Given the description of an element on the screen output the (x, y) to click on. 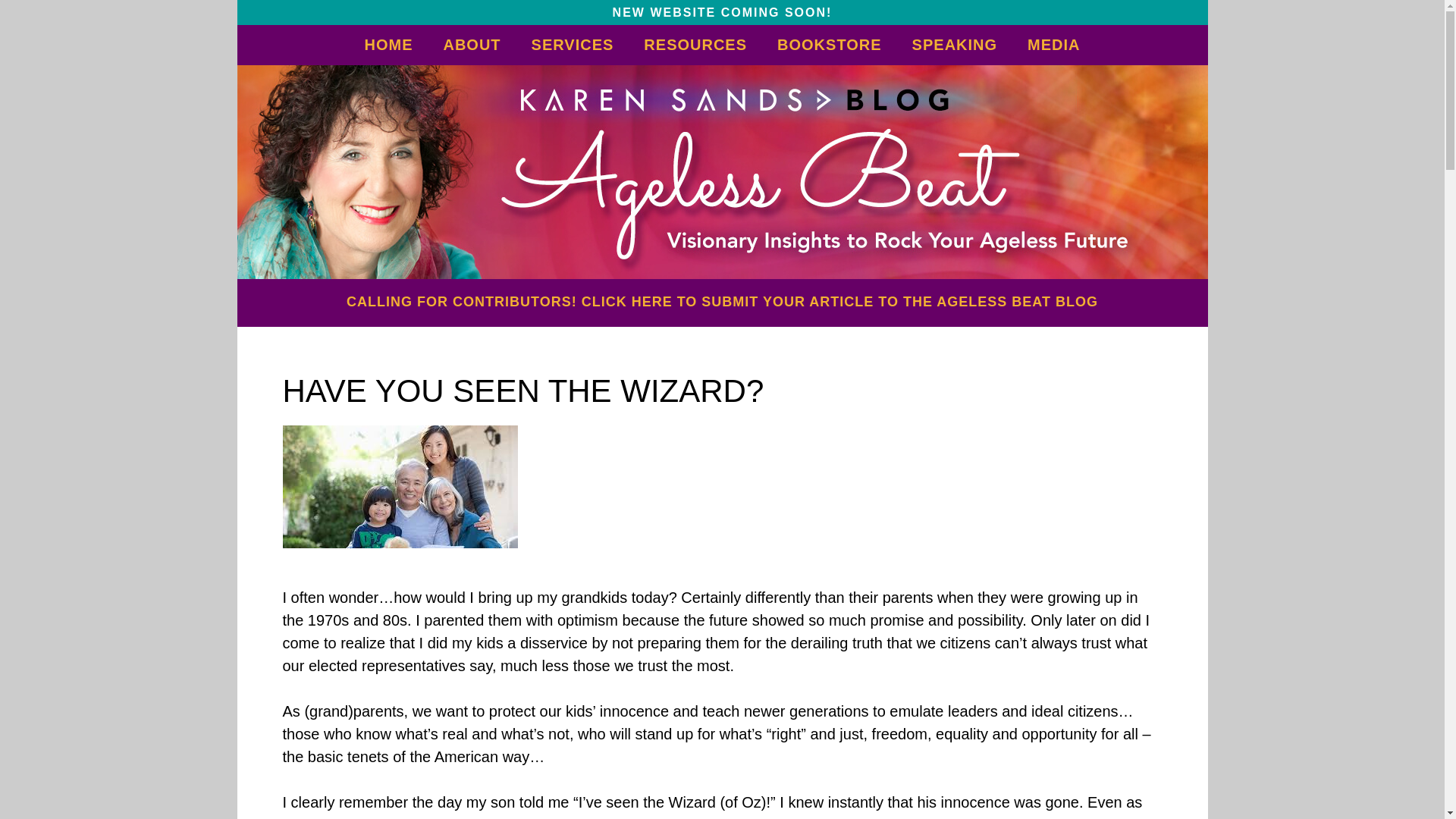
ABOUT (471, 44)
BOOKSTORE (828, 44)
SPEAKING (953, 44)
MEDIA (1052, 44)
RESOURCES (694, 44)
SERVICES (572, 44)
HOME (388, 44)
Karen Sands (722, 171)
